Given the description of an element on the screen output the (x, y) to click on. 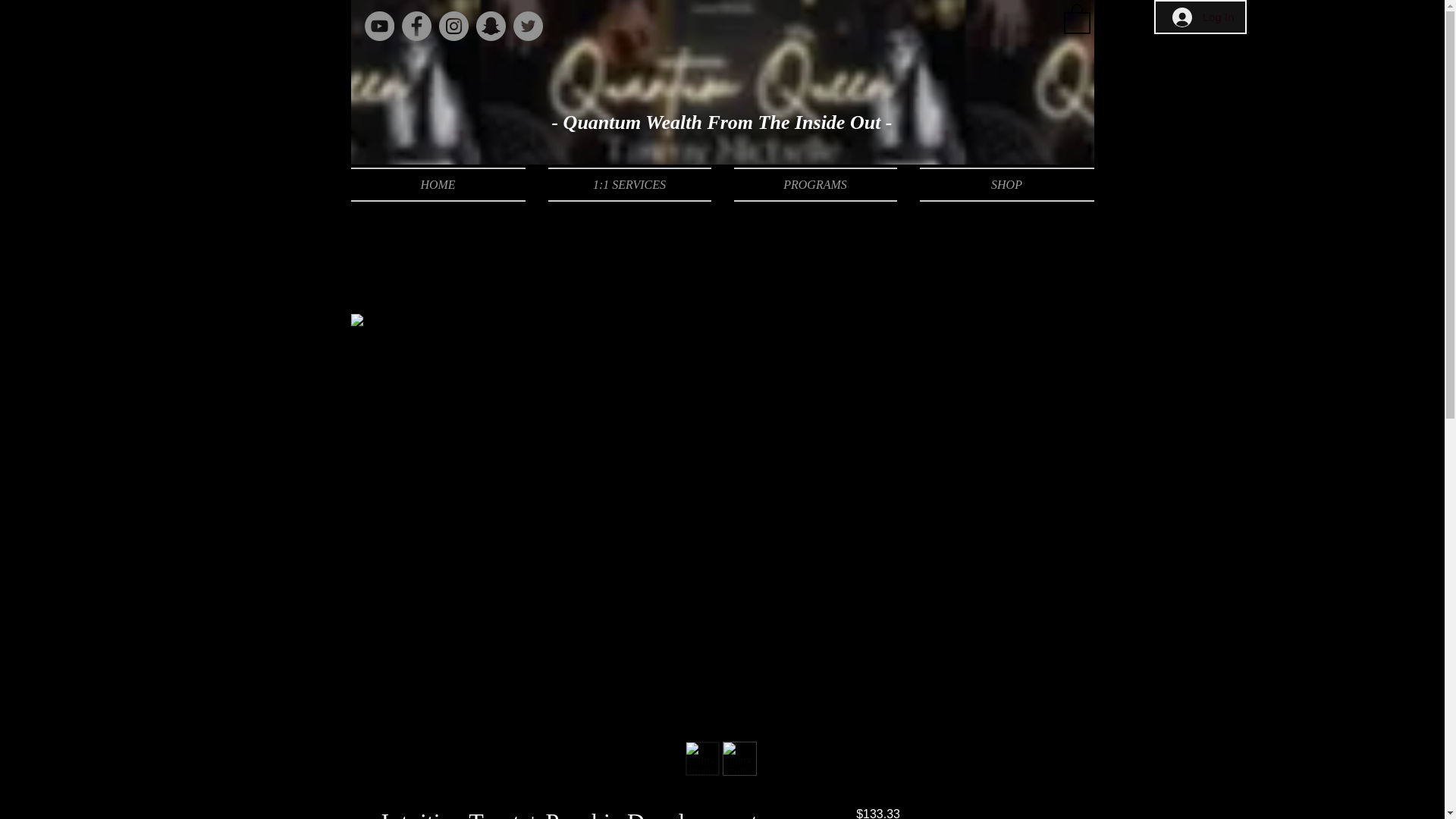
SHOP (1001, 184)
1:1 SERVICES (629, 184)
PROGRAMS (814, 184)
HOME (442, 184)
Log In (1202, 17)
